Given the description of an element on the screen output the (x, y) to click on. 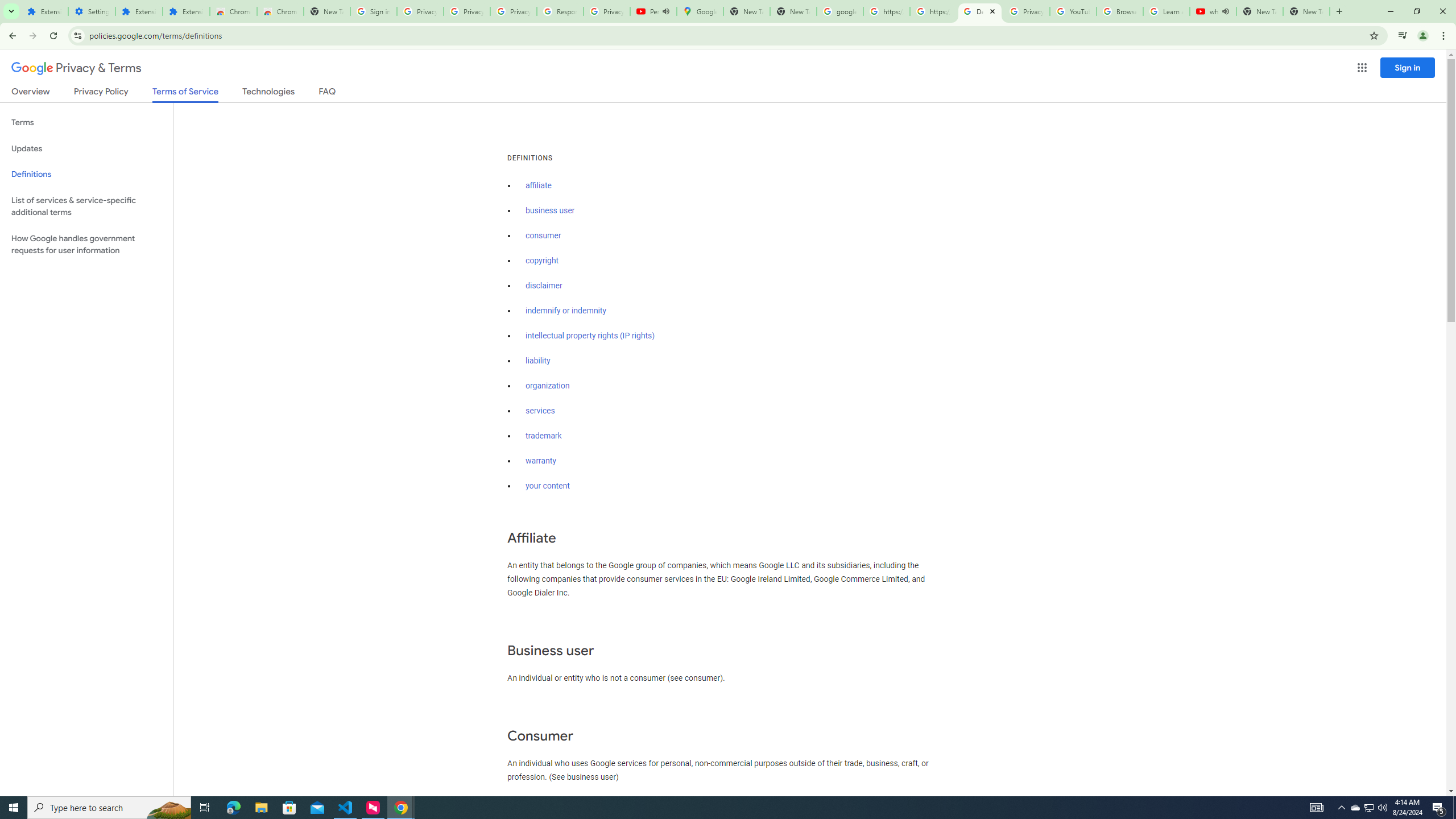
Chrome Web Store - Themes (279, 11)
liability (537, 361)
New Tab (1306, 11)
affiliate (538, 185)
Extensions (44, 11)
Settings (91, 11)
copyright (542, 260)
Extensions (186, 11)
